Given the description of an element on the screen output the (x, y) to click on. 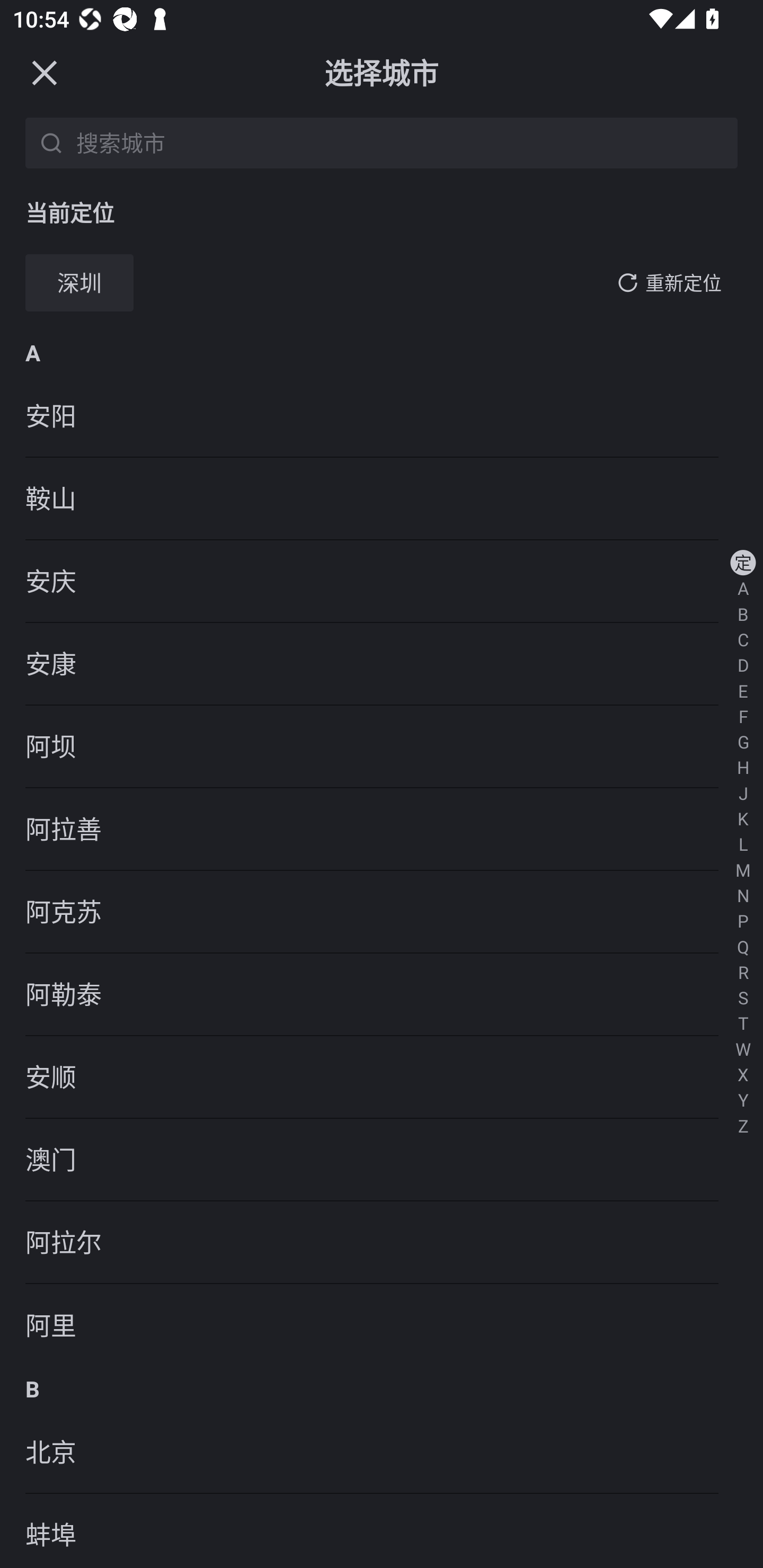
 (44, 71)
搜索城市 (403, 142)
深圳 (79, 283)
重新定位 (683, 282)
 (627, 282)
安阳 (381, 415)
鞍山 (381, 498)
安庆 (381, 581)
安康 (381, 663)
阿坝 (381, 746)
阿拉善 (381, 829)
阿克苏 (381, 911)
阿勒泰 (381, 994)
安顺 (381, 1077)
澳门 (381, 1160)
阿拉尔 (381, 1242)
阿里 (381, 1325)
北京 (381, 1452)
蚌埠 (381, 1531)
